Given the description of an element on the screen output the (x, y) to click on. 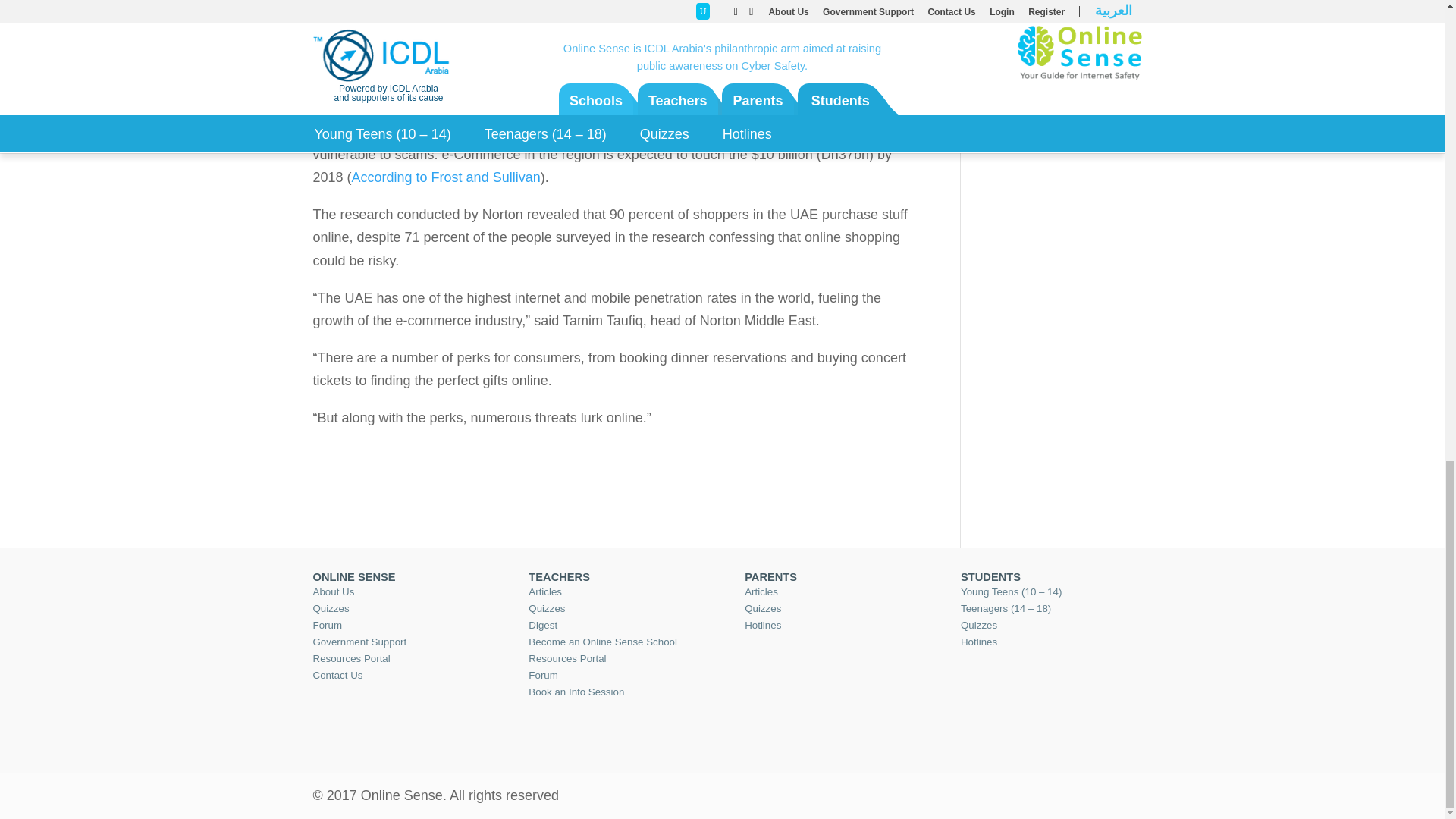
Show Me How! (614, 30)
According to Frost and Sullivan (446, 177)
About Us (333, 591)
